Given the description of an element on the screen output the (x, y) to click on. 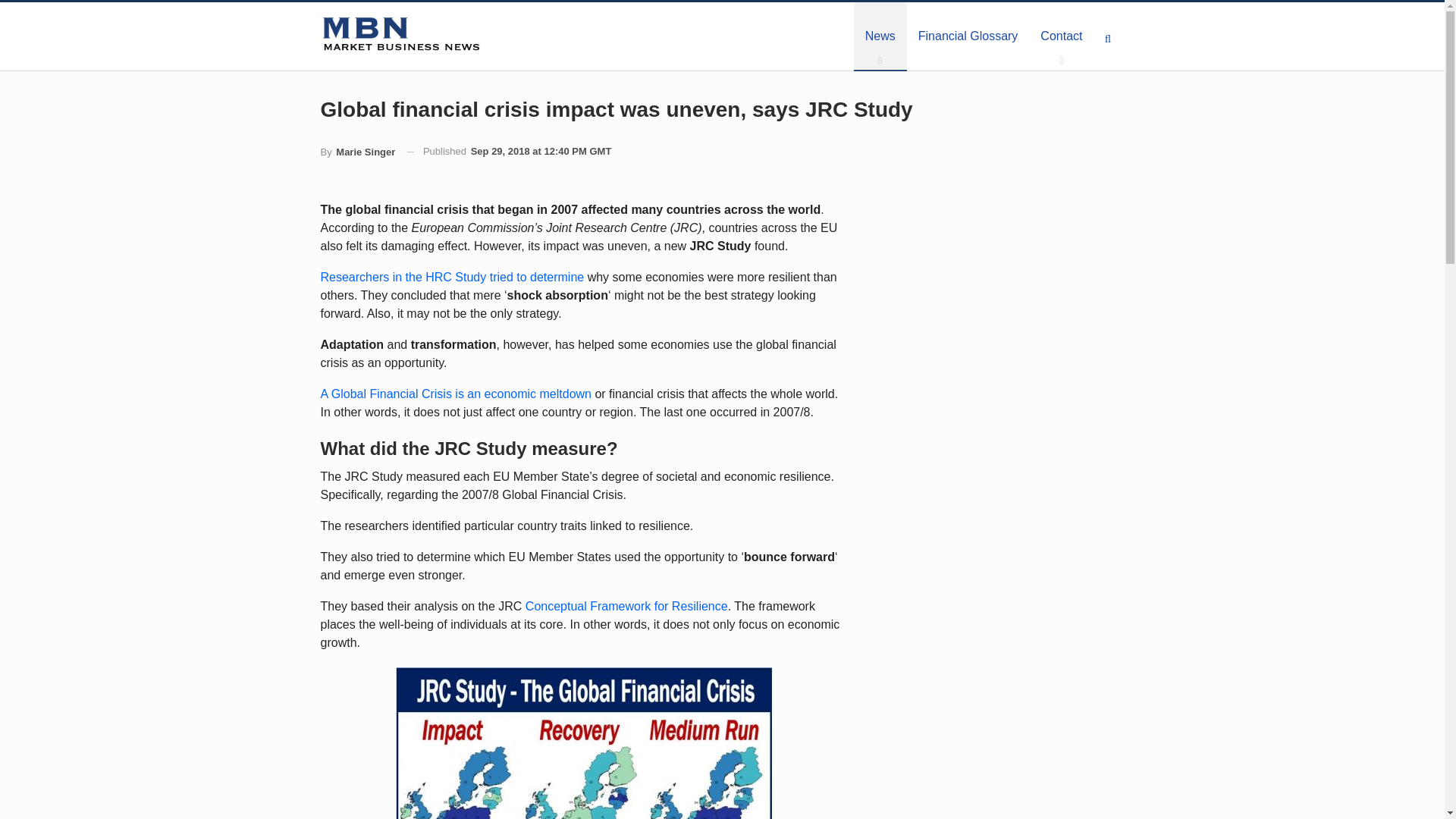
Financial Glossary (968, 36)
Contact (1061, 36)
Researchers in the HRC Study tried to determine (451, 277)
By Marie Singer (357, 152)
A Global Financial Crisis is an economic meltdown (455, 393)
Browse Author Articles (357, 152)
Conceptual Framework for Resilience (626, 605)
